Given the description of an element on the screen output the (x, y) to click on. 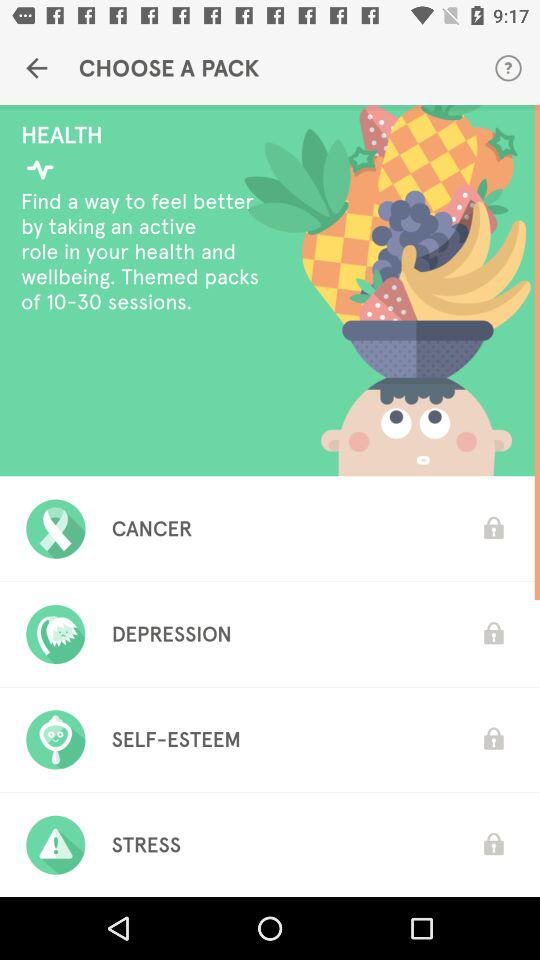
turn on icon above depression item (151, 528)
